Given the description of an element on the screen output the (x, y) to click on. 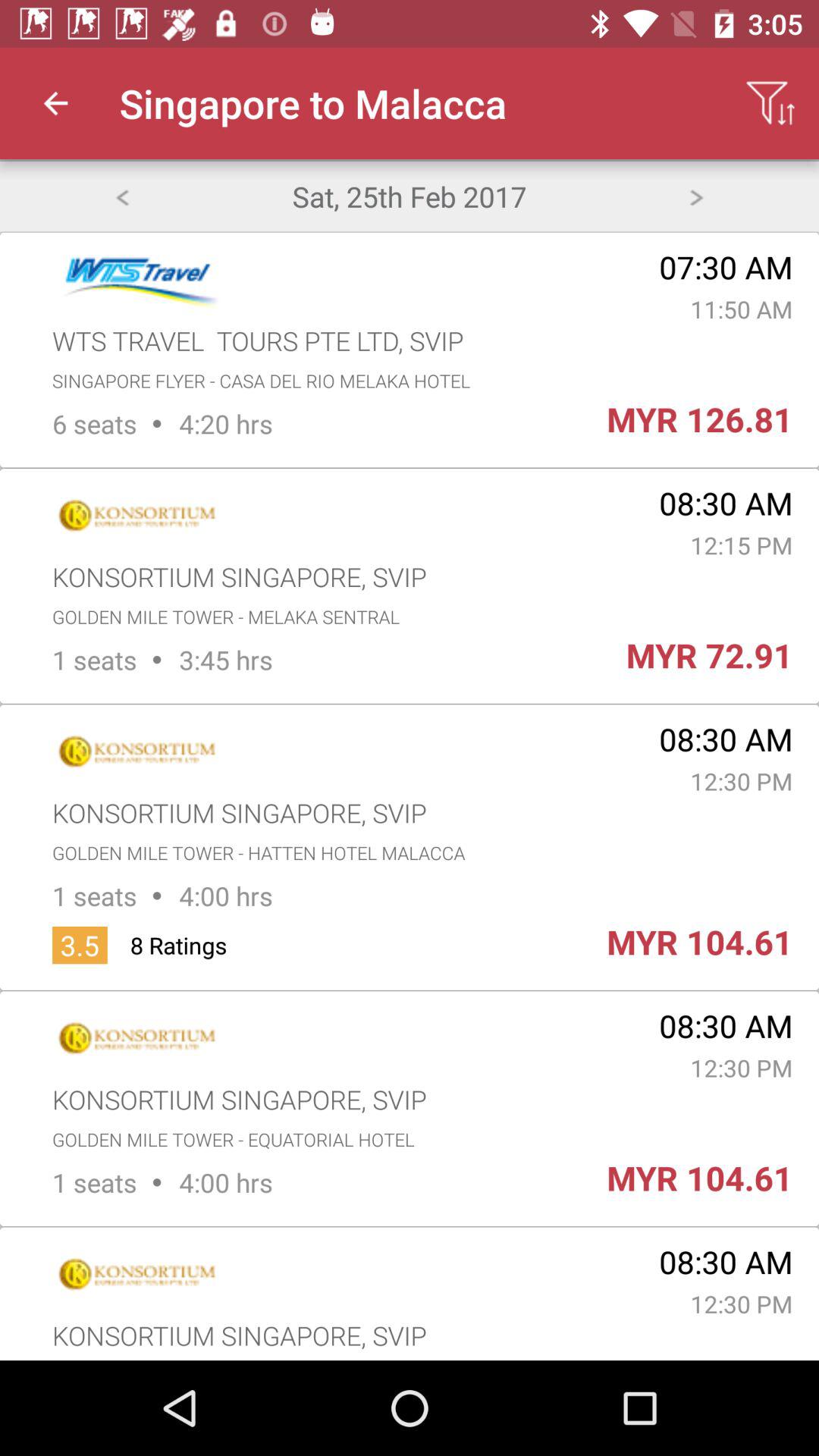
choose the item to the left of singapore to malacca item (55, 103)
